Given the description of an element on the screen output the (x, y) to click on. 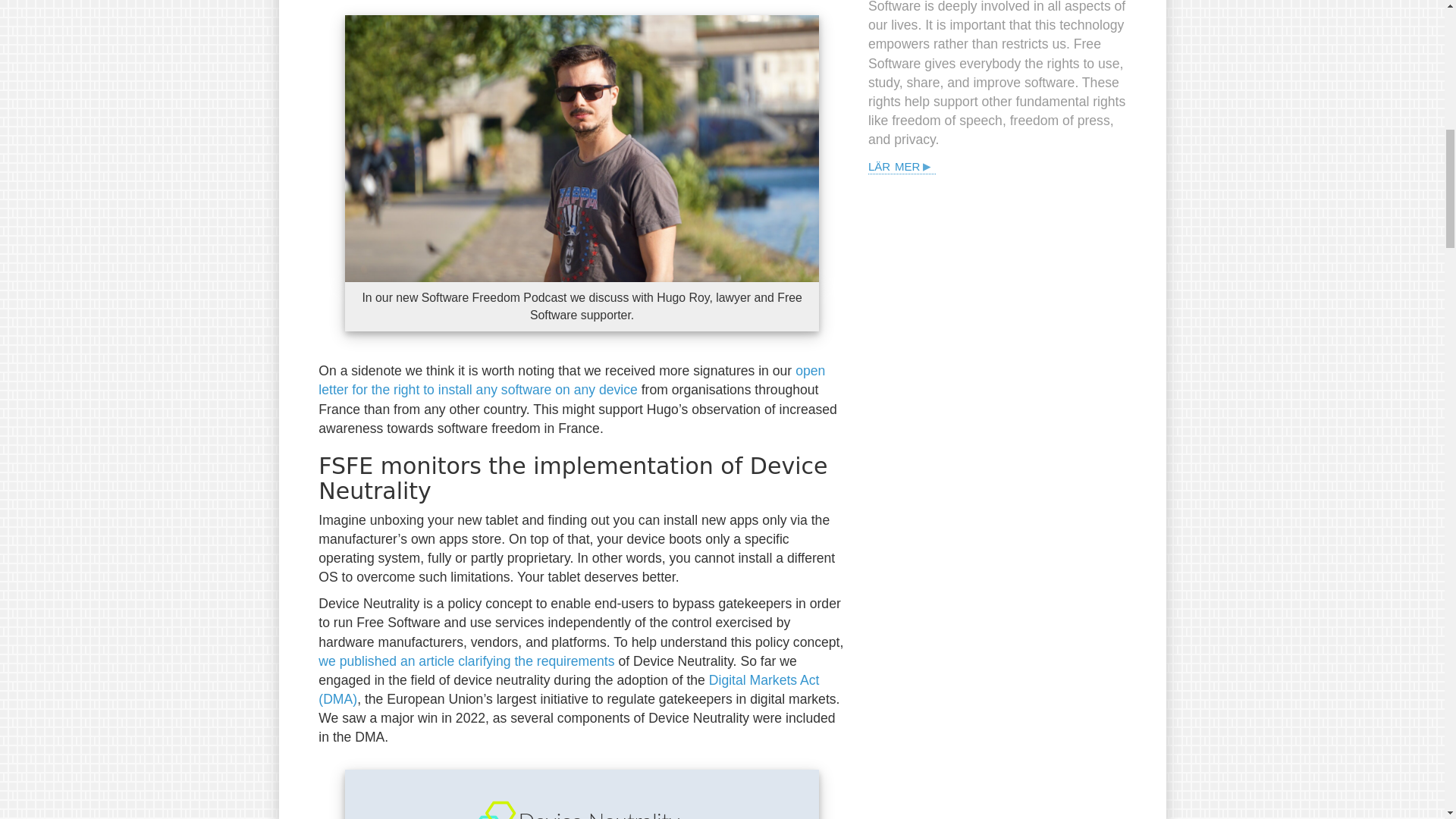
we published an article clarifying the requirements (466, 661)
